Given the description of an element on the screen output the (x, y) to click on. 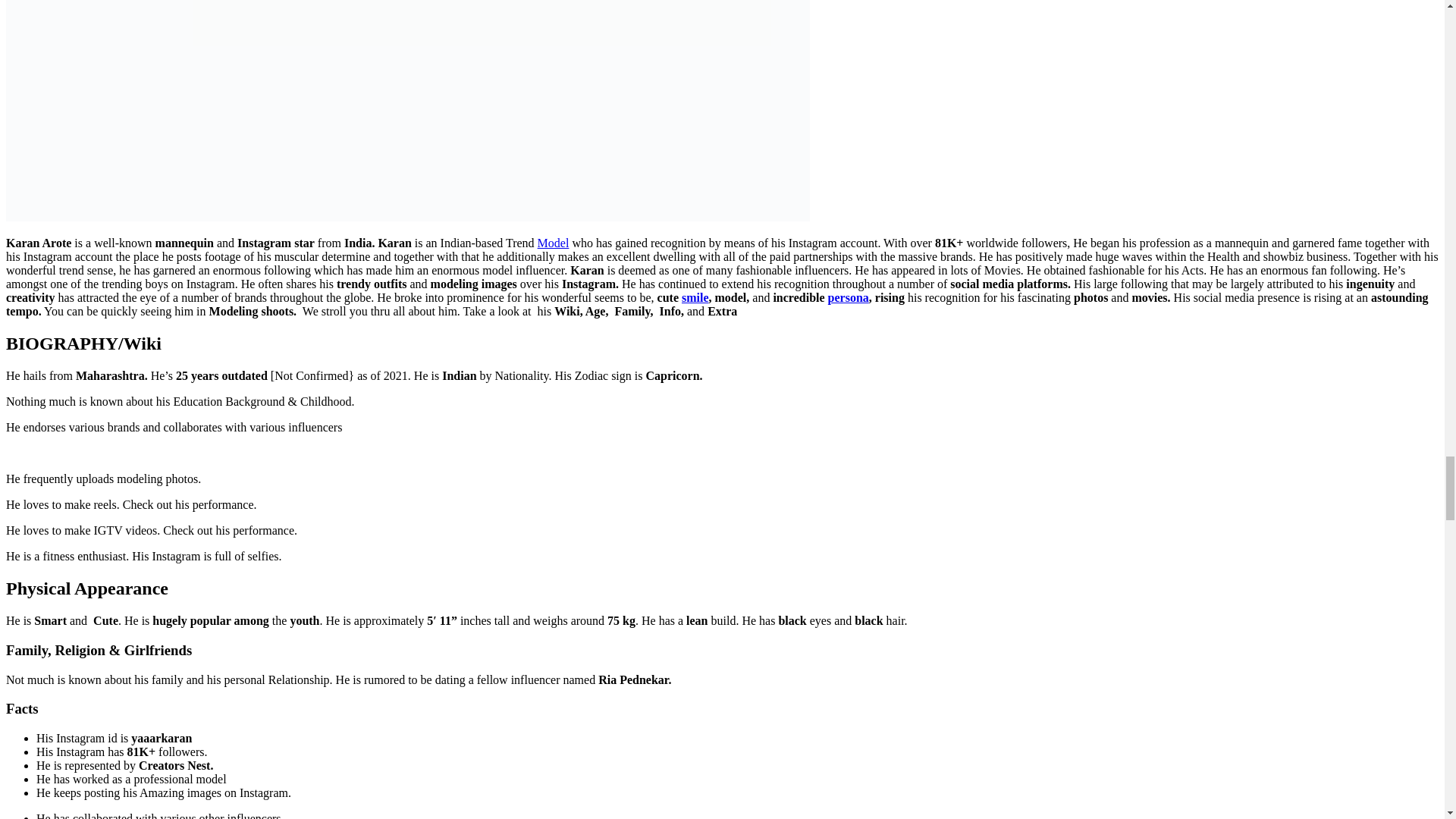
Antje Utgaard Wiki (553, 242)
